Given the description of an element on the screen output the (x, y) to click on. 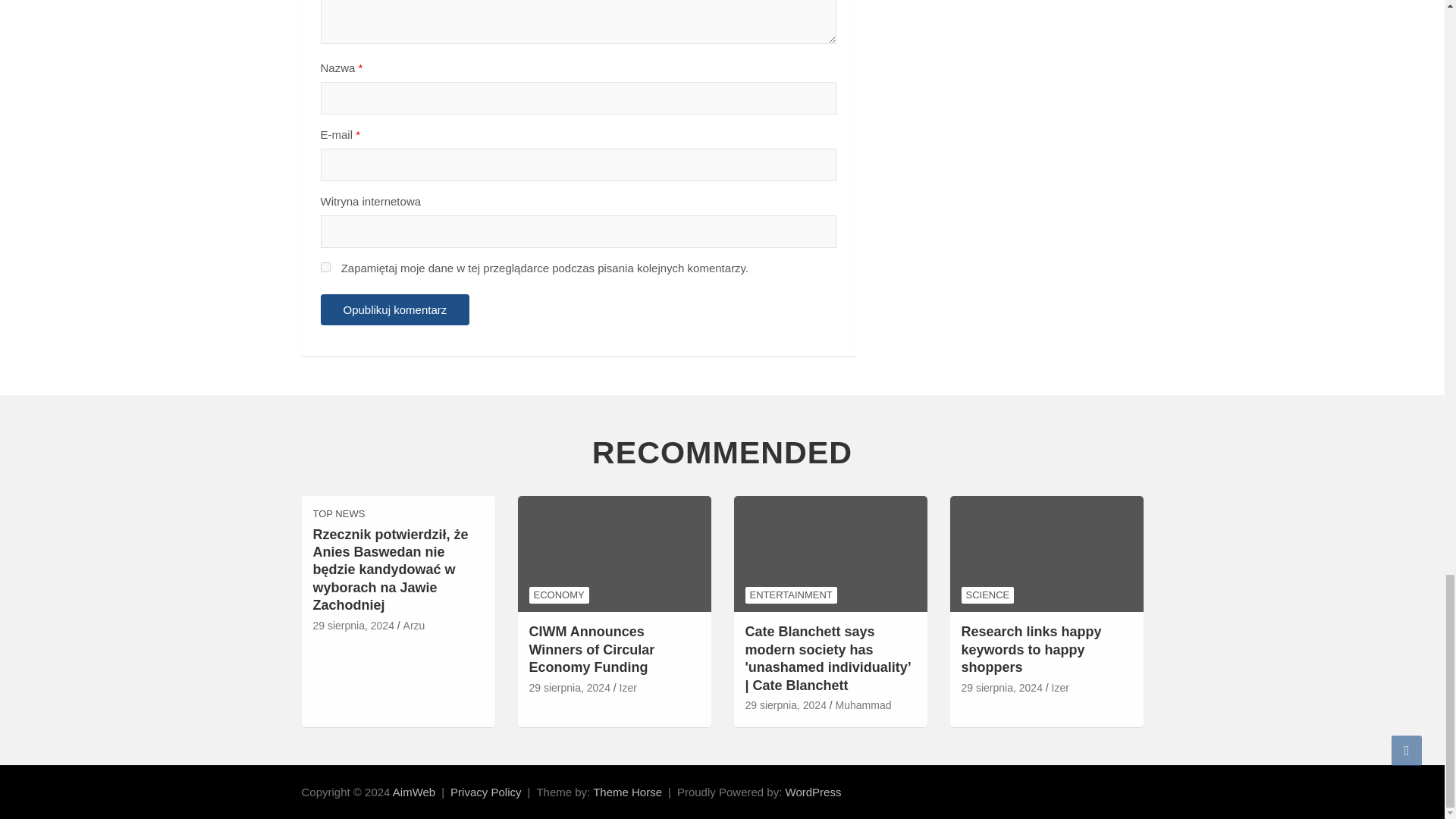
TOP NEWS (339, 513)
Opublikuj komentarz (394, 309)
CIWM Announces Winners of Circular Economy Funding (569, 688)
yes (325, 266)
29 sierpnia, 2024 (353, 626)
WordPress (813, 791)
Opublikuj komentarz (394, 309)
AimWeb (414, 791)
Research links happy keywords to happy shoppers (1001, 688)
Arzu (414, 626)
